Given the description of an element on the screen output the (x, y) to click on. 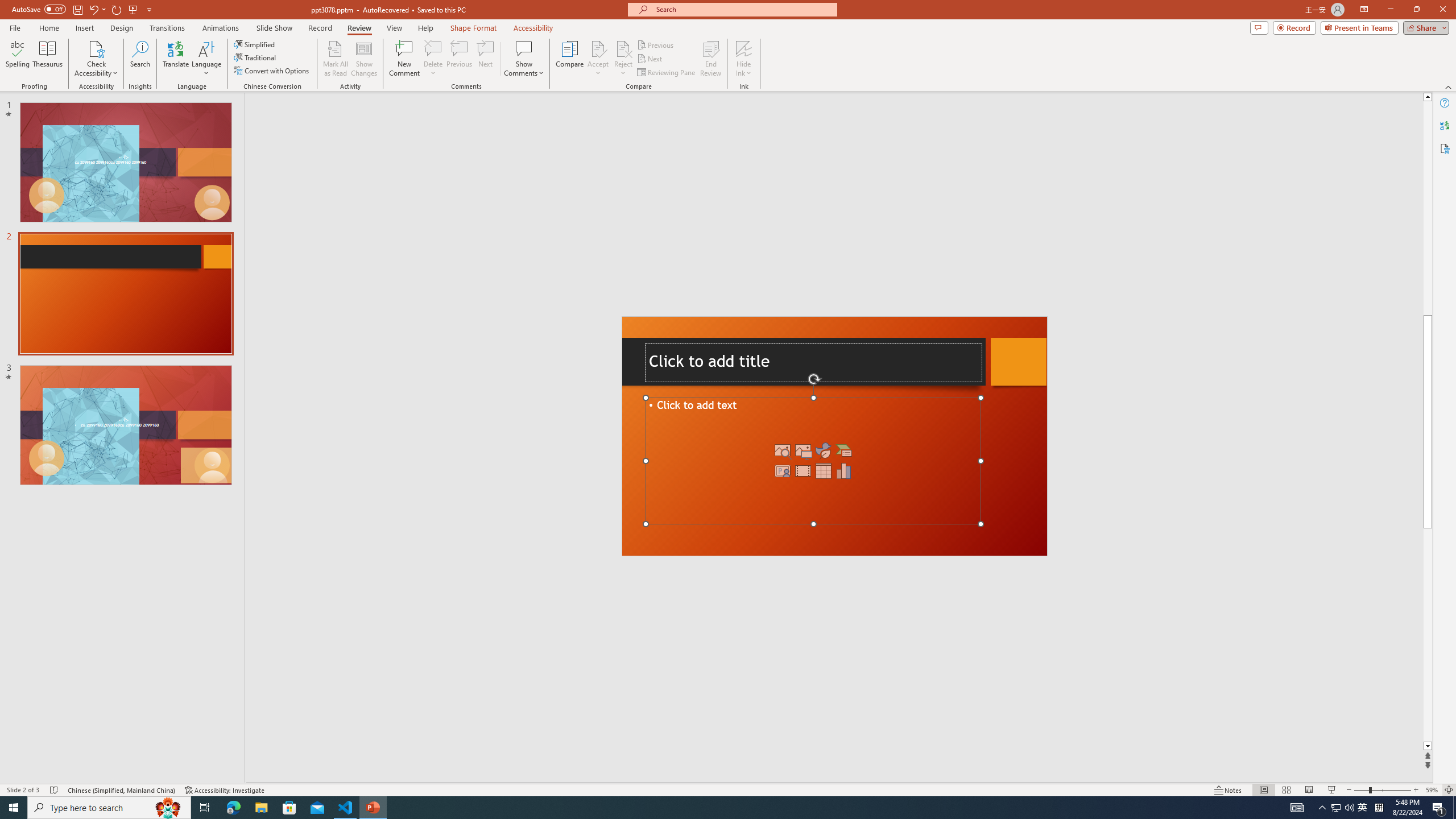
Zoom 59% (1431, 790)
Content Placeholder (812, 461)
